Given the description of an element on the screen output the (x, y) to click on. 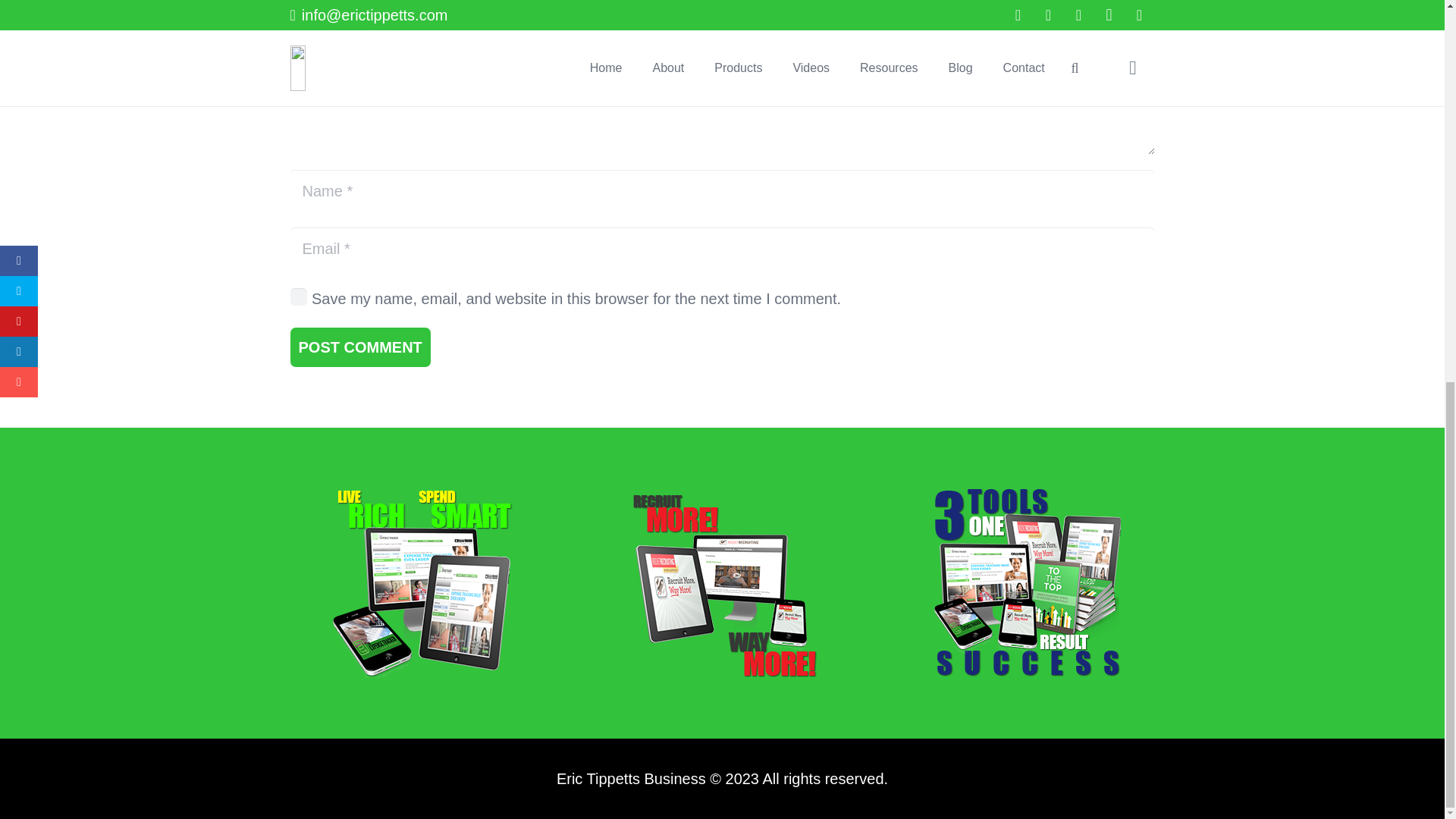
Back to top (1413, 151)
1 (298, 296)
POST COMMENT (359, 346)
